Given the description of an element on the screen output the (x, y) to click on. 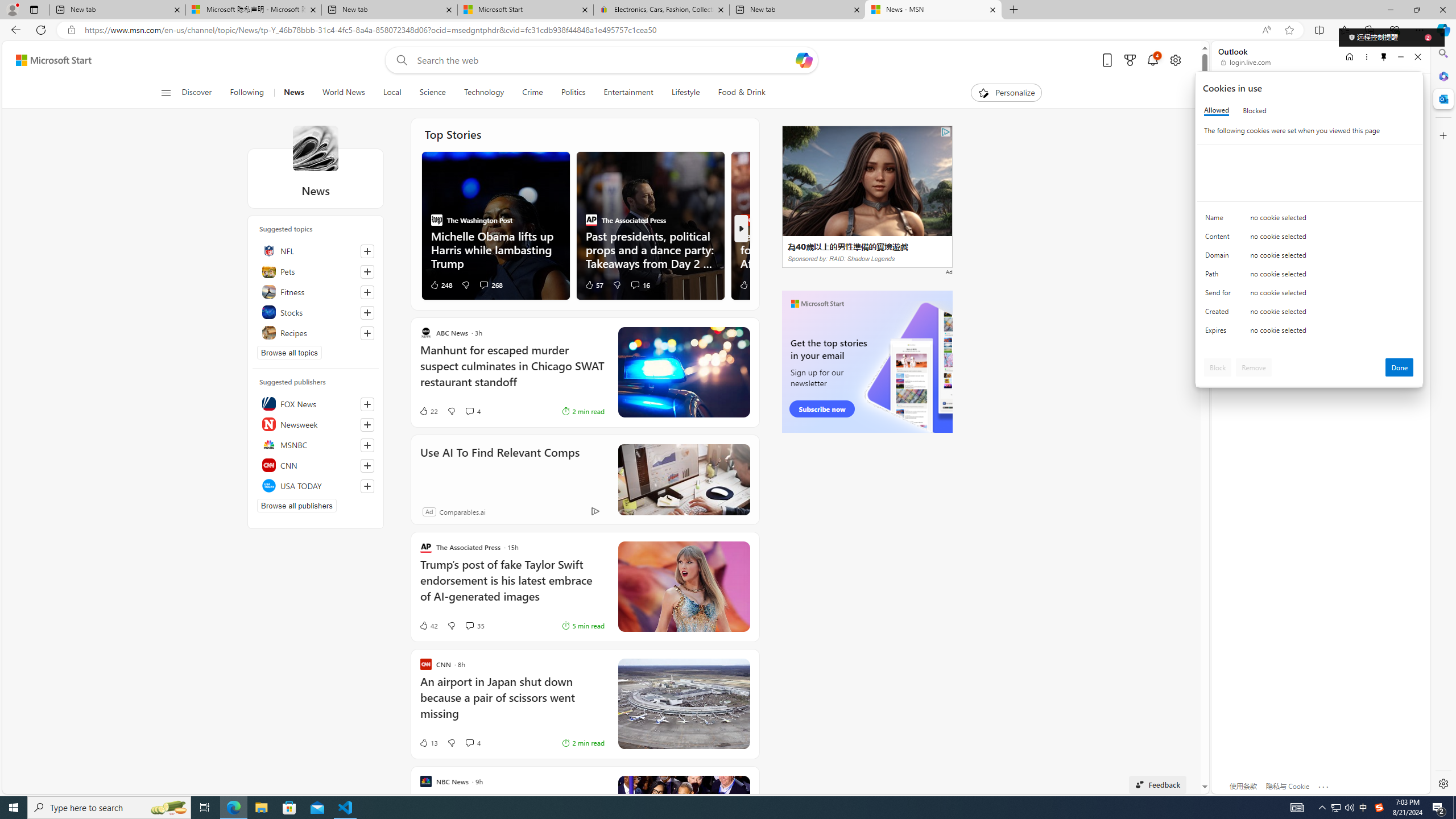
Browse all publishers (296, 505)
Remove (1253, 367)
13 Like (427, 742)
Electronics, Cars, Fashion, Collectibles & More | eBay (660, 9)
Jennifer Lopez has filed for divorce from Ben Affleck (804, 249)
Created (1219, 313)
Enter your search term (603, 59)
Food & Drink (741, 92)
USA TODAY (315, 485)
